Given the description of an element on the screen output the (x, y) to click on. 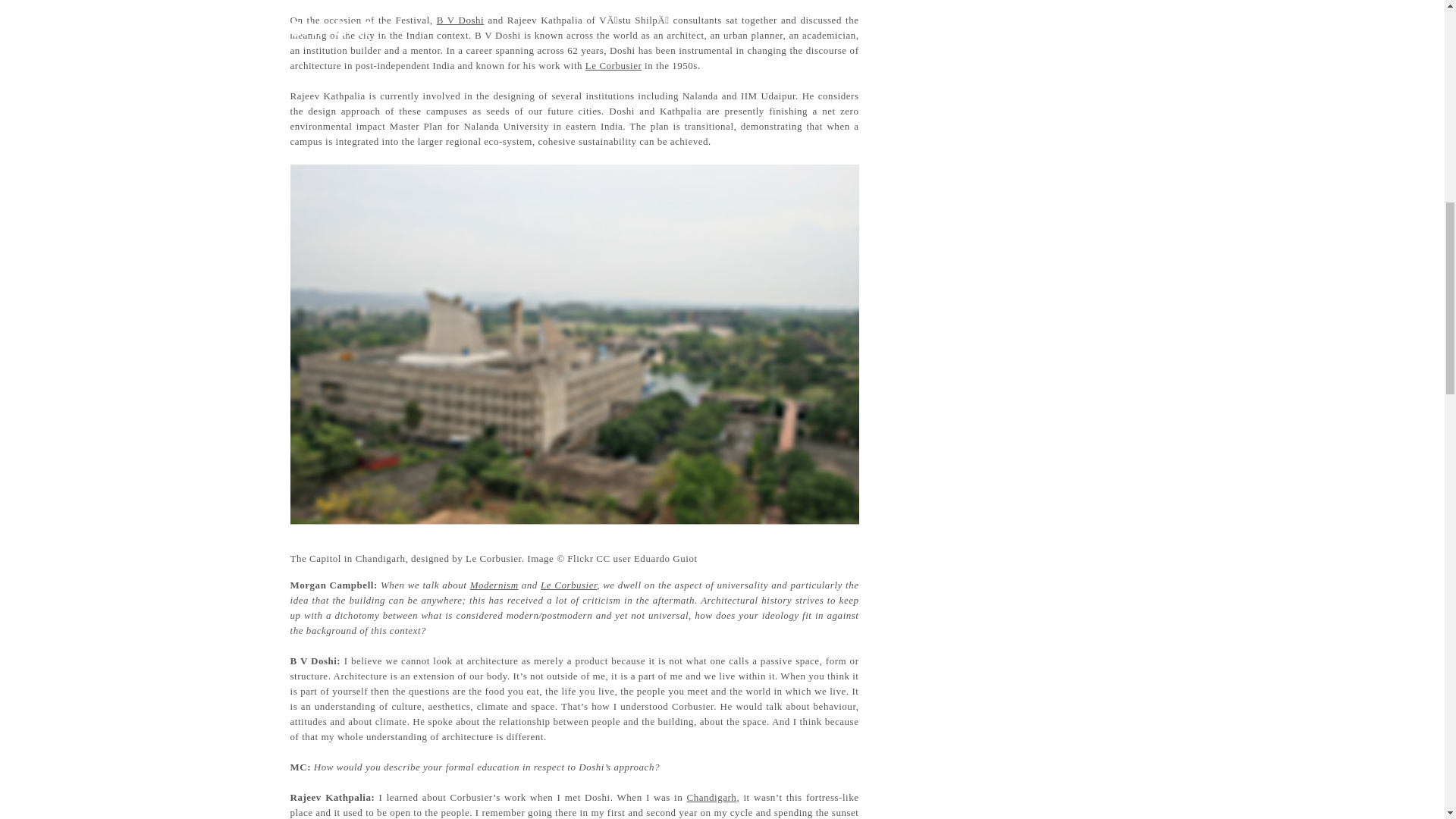
Chandigarh (711, 797)
Le Corbusier (568, 584)
Le Corbusier (613, 65)
B V Doshi (460, 19)
Modernism (494, 584)
